Given the description of an element on the screen output the (x, y) to click on. 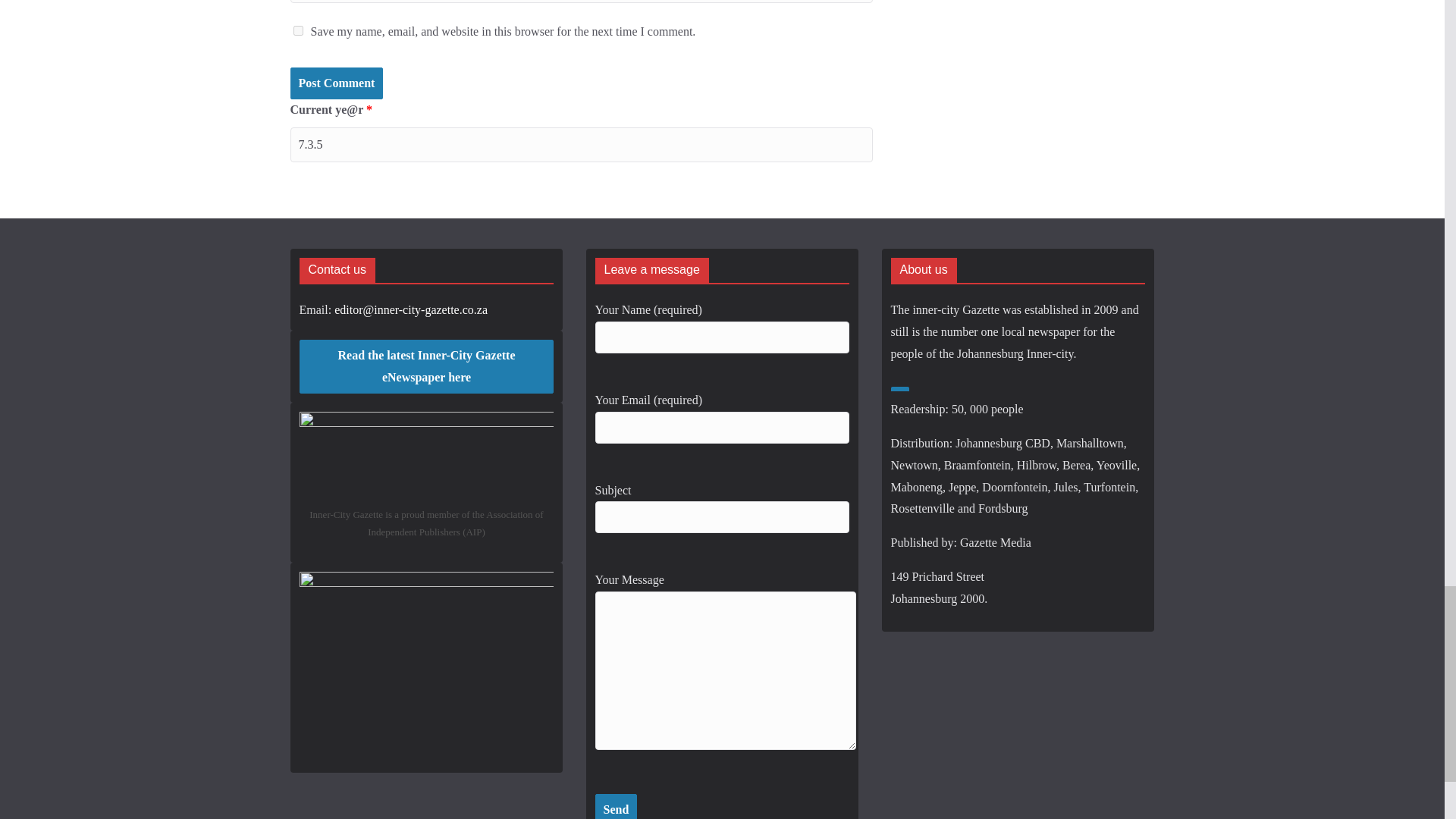
Post Comment (335, 83)
Send (615, 806)
7.3.5 (580, 144)
yes (297, 30)
